Given the description of an element on the screen output the (x, y) to click on. 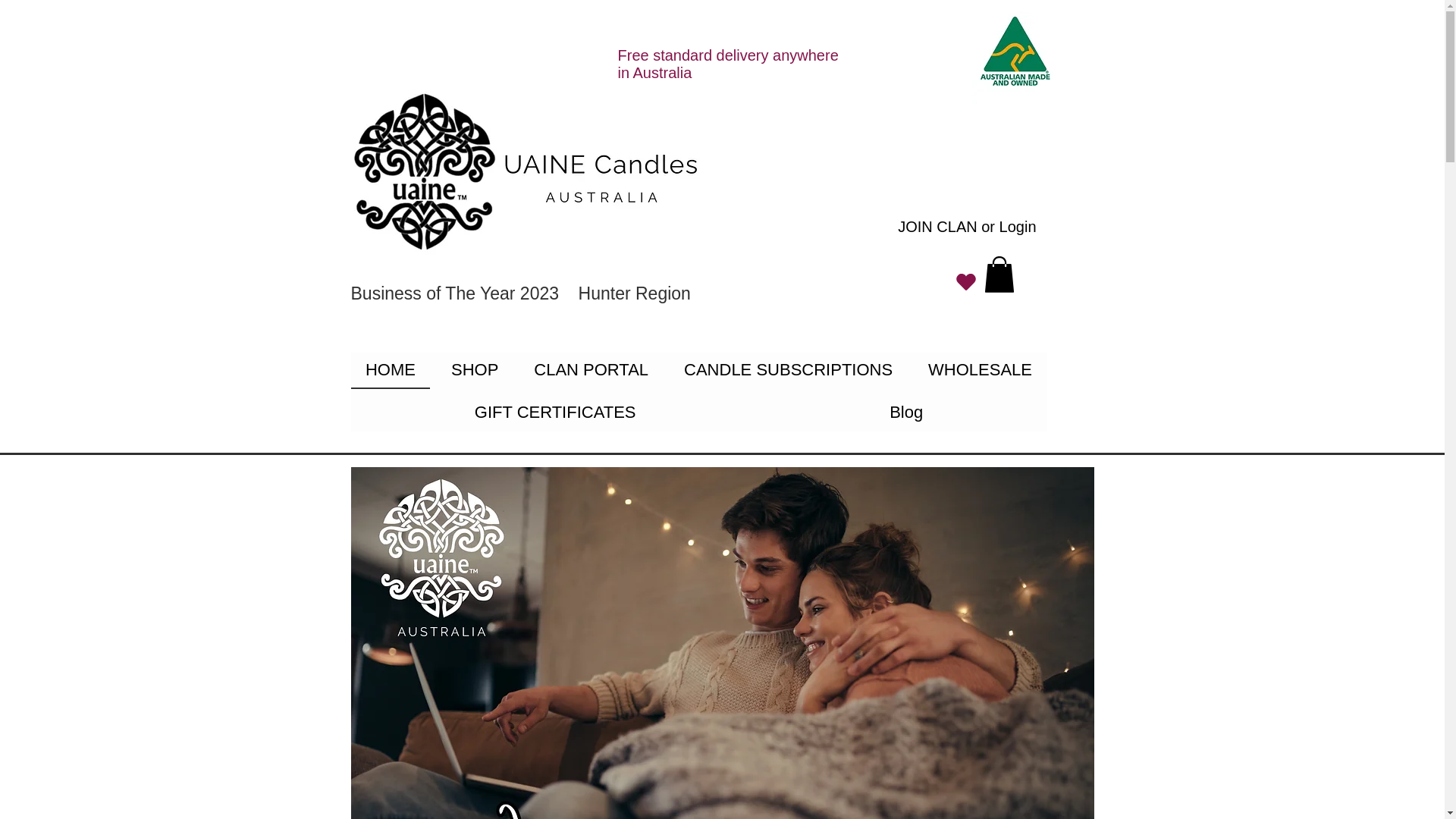
GIFT CERTIFICATES (554, 412)
CANDLE SUBSCRIPTIONS (788, 370)
WHOLESALE (980, 370)
HOME (389, 370)
SHOP (473, 370)
JOIN CLAN or Login (966, 226)
Blog (905, 412)
CLAN PORTAL (591, 370)
